Given the description of an element on the screen output the (x, y) to click on. 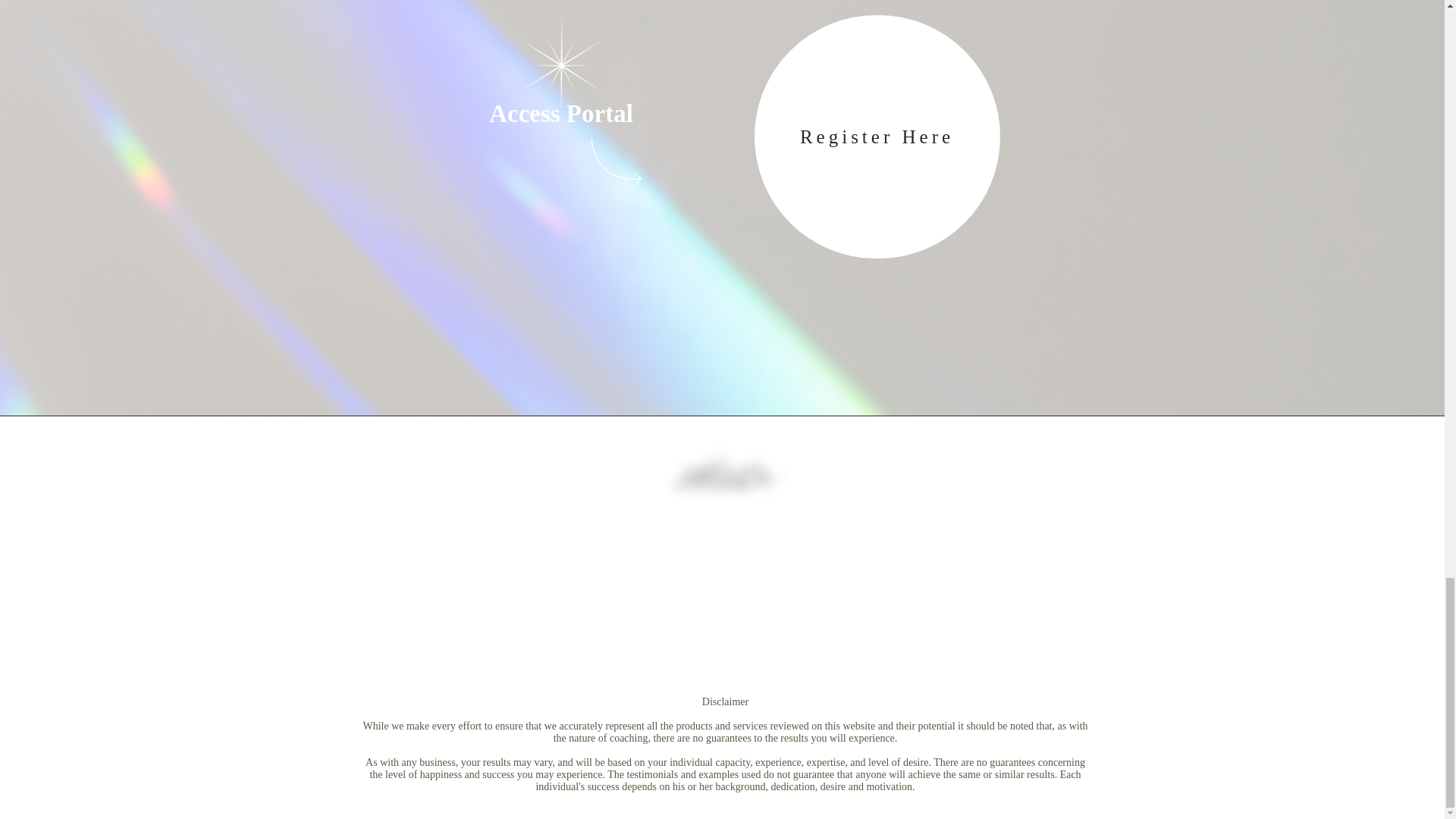
Register Here (876, 136)
